Given the description of an element on the screen output the (x, y) to click on. 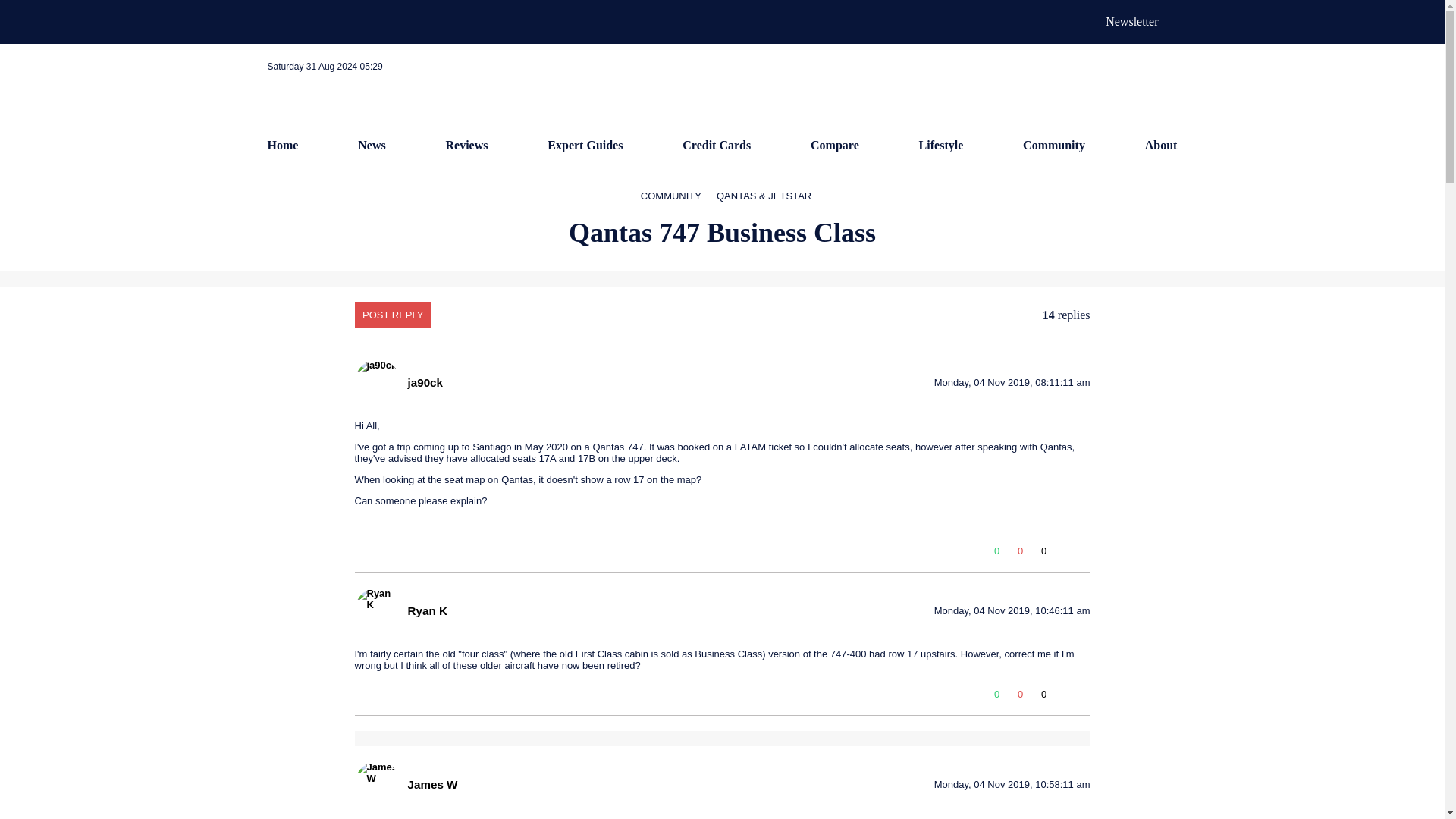
James W (432, 784)
Report this post (1082, 697)
ja90ck (425, 382)
Report this post (1082, 554)
Reply with Quote (1064, 697)
Reply with Quote (1064, 554)
Ryan K (426, 609)
